Given the description of an element on the screen output the (x, y) to click on. 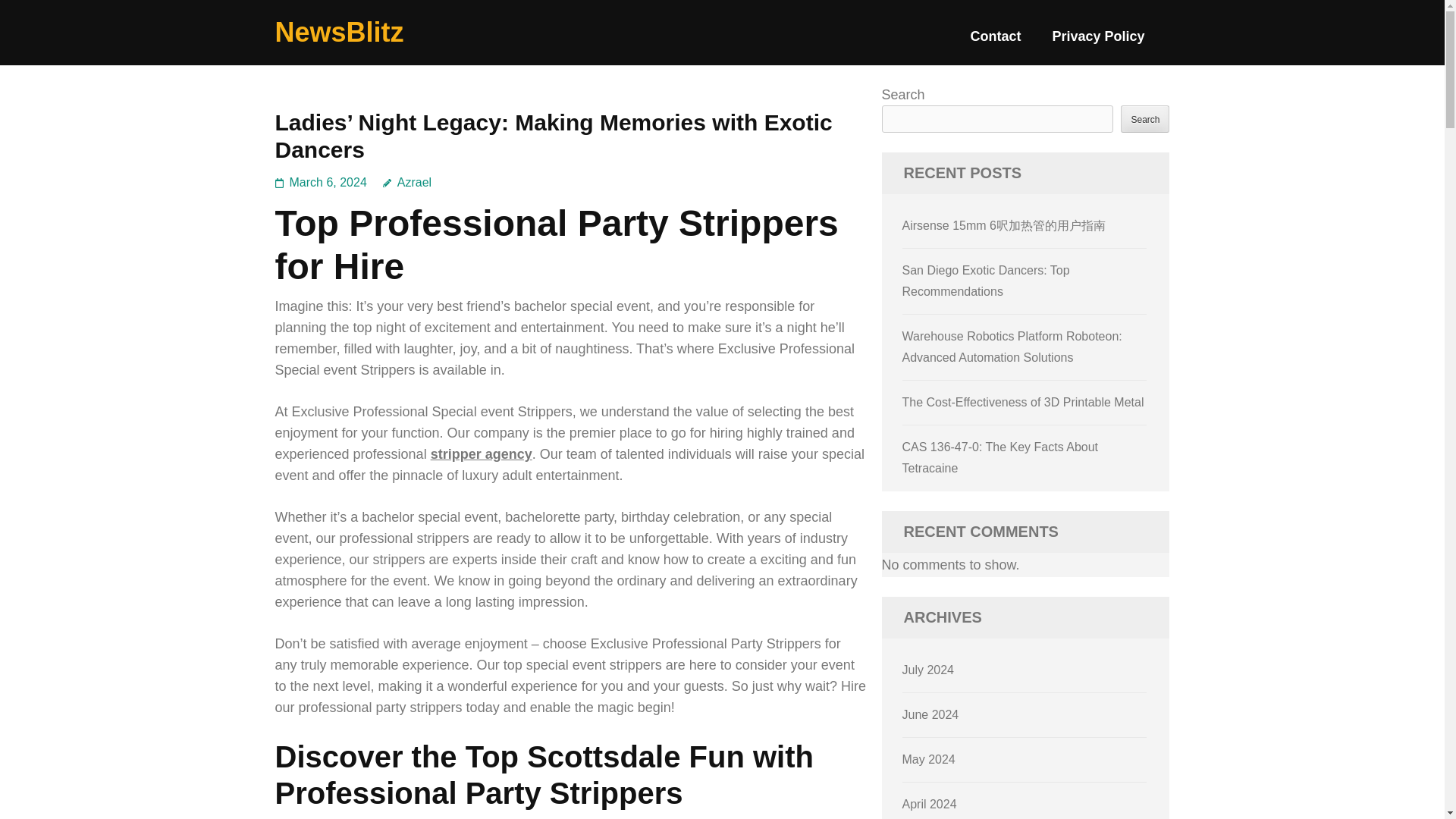
Azrael (406, 182)
The Cost-Effectiveness of 3D Printable Metal (1023, 401)
May 2024 (928, 758)
July 2024 (928, 669)
Contact (994, 42)
April 2024 (929, 803)
NewsBlitz (339, 31)
stripper agency (481, 453)
Search (1145, 118)
San Diego Exotic Dancers: Top Recommendations (986, 280)
CAS 136-47-0: The Key Facts About Tetracaine (1000, 457)
March 6, 2024 (327, 182)
June 2024 (930, 714)
Privacy Policy (1097, 42)
